Given the description of an element on the screen output the (x, y) to click on. 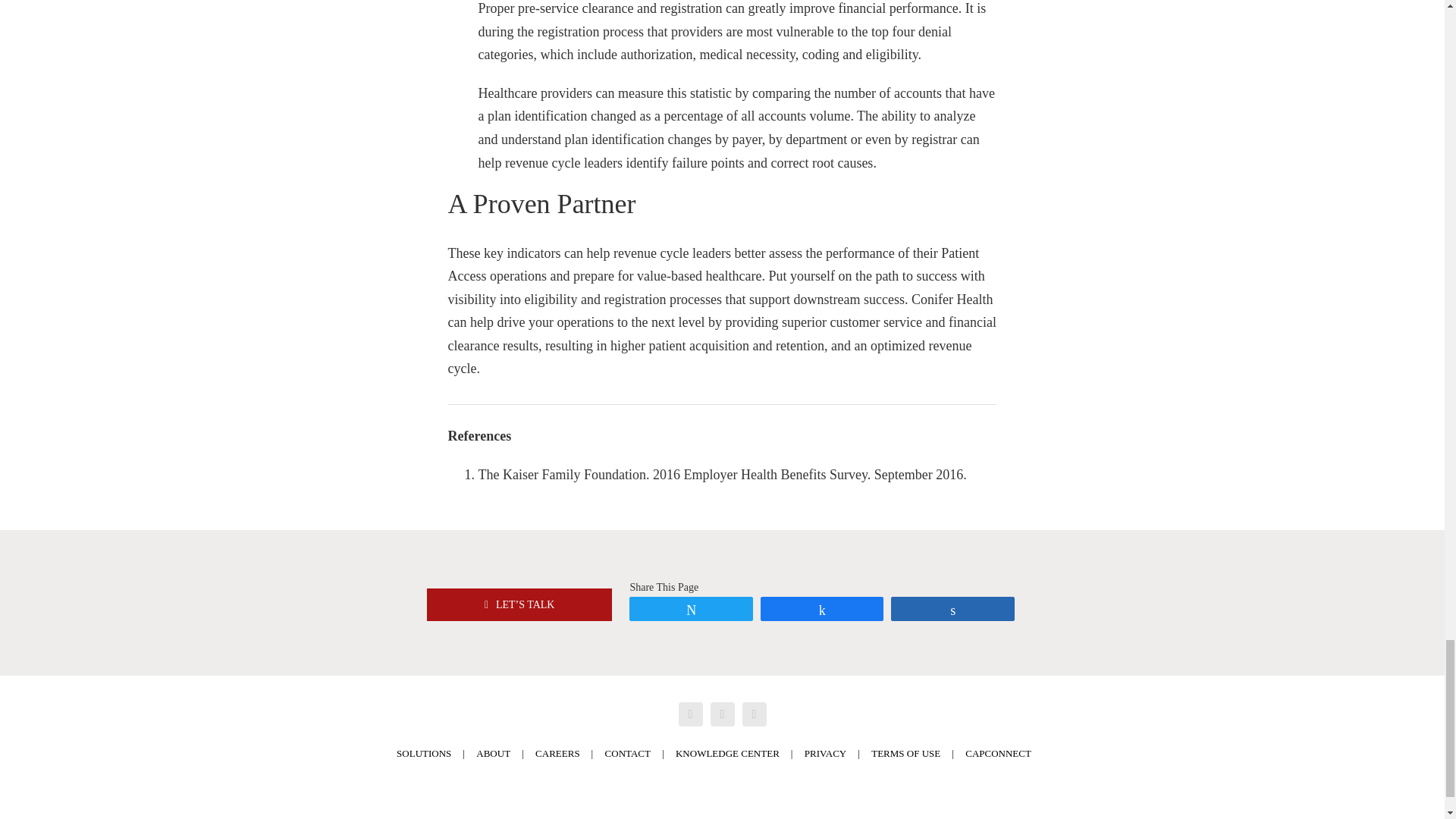
X (721, 713)
LinkedIn (753, 713)
Facebook (689, 713)
